Given the description of an element on the screen output the (x, y) to click on. 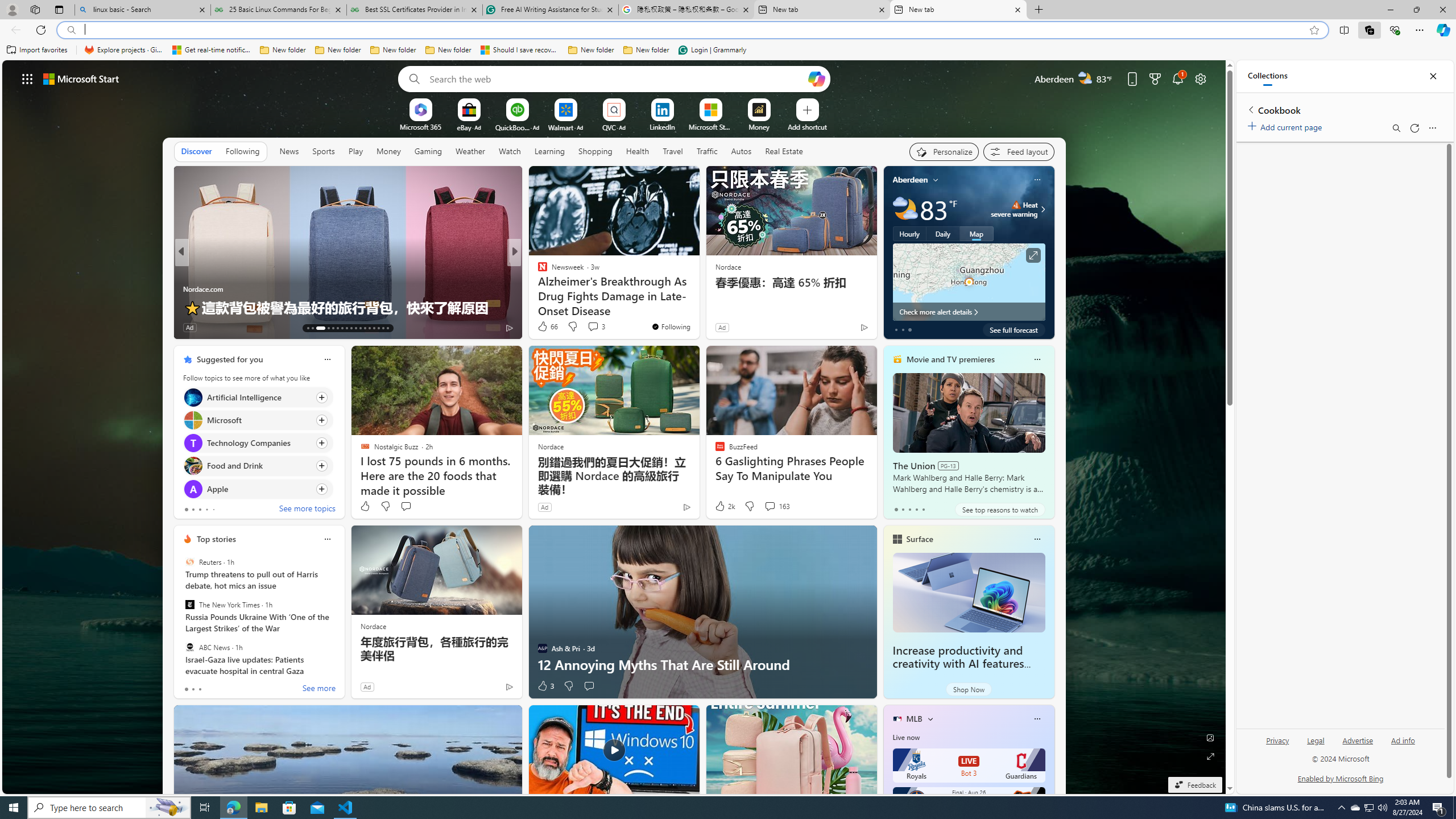
Should I save recovered Word documents? - Microsoft Support (519, 49)
Royals LIVE Bot 3 Guardians (968, 765)
tab-1 (192, 689)
Surface (919, 538)
You're following Newsweek (670, 326)
View comments 26 Comment (597, 327)
You're following The Weather Channel (839, 329)
Watch (509, 151)
Click to follow topic Microsoft (257, 419)
Sports (323, 151)
Legal (1315, 740)
